Given the description of an element on the screen output the (x, y) to click on. 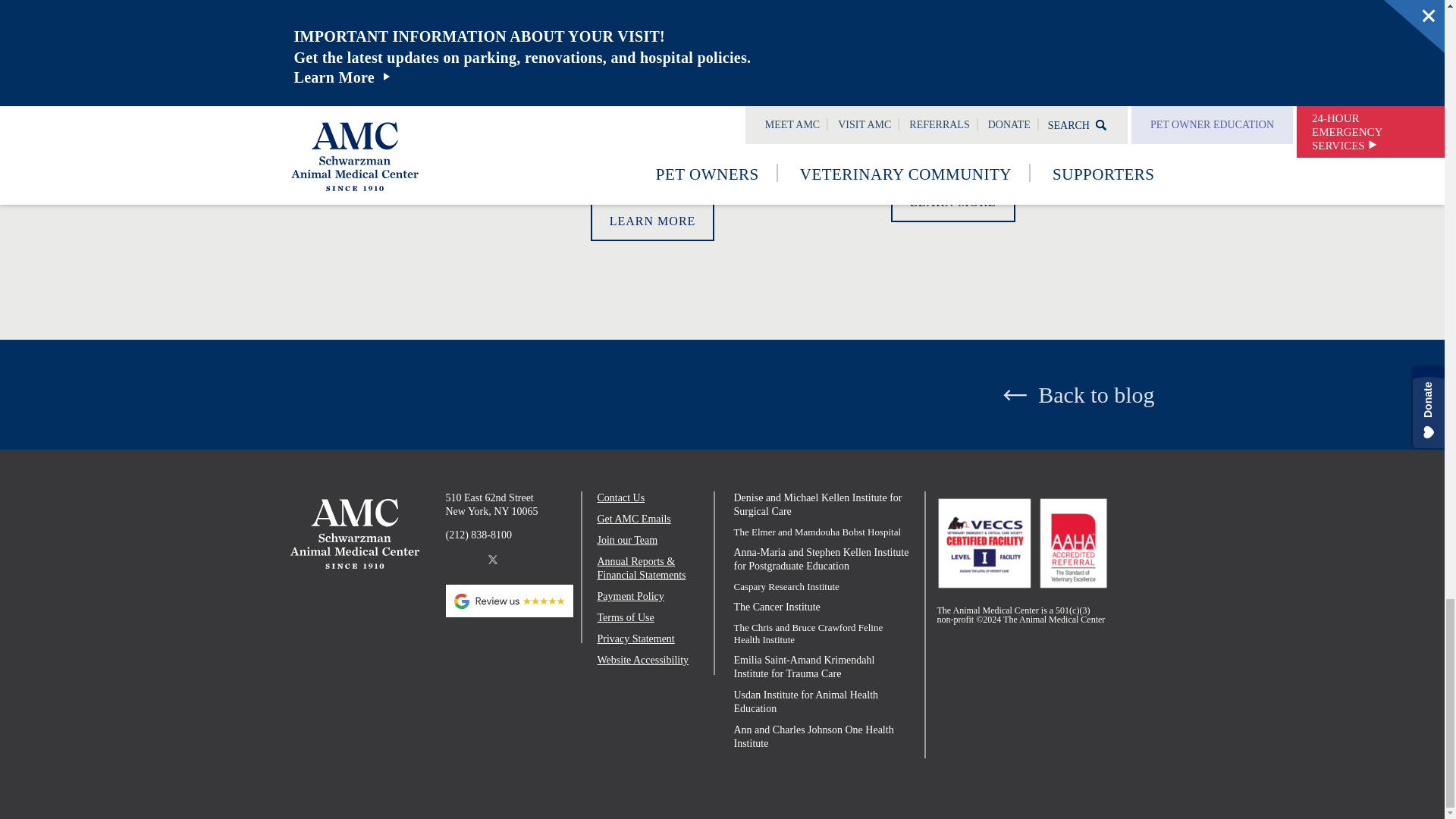
The Animal Medical Center (354, 532)
Review us on Google! (509, 600)
